Given the description of an element on the screen output the (x, y) to click on. 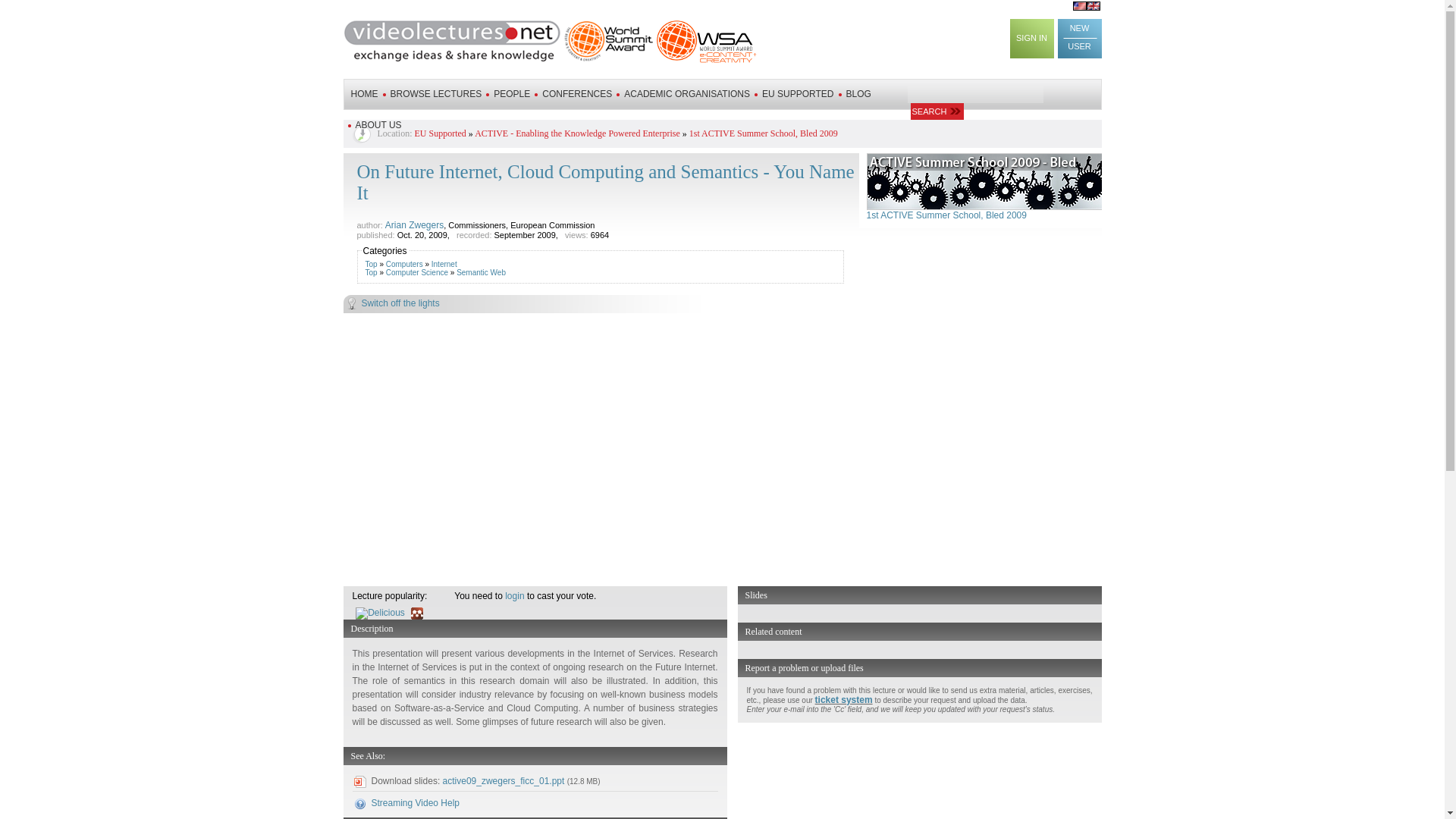
Add to Delicious (382, 612)
Internet (443, 264)
Top (371, 264)
ticket system (843, 699)
Arian Zwegers (414, 225)
SIGN IN (1032, 38)
BROWSE LECTURES (435, 93)
EU SUPPORTED (796, 93)
Switch off the lights (721, 305)
BLOG (857, 93)
Streaming Video Help (415, 802)
1st ACTIVE Summer School, Bled 2009 (763, 132)
Top (371, 272)
CONFERENCES (576, 93)
Semantic Web (481, 272)
